Given the description of an element on the screen output the (x, y) to click on. 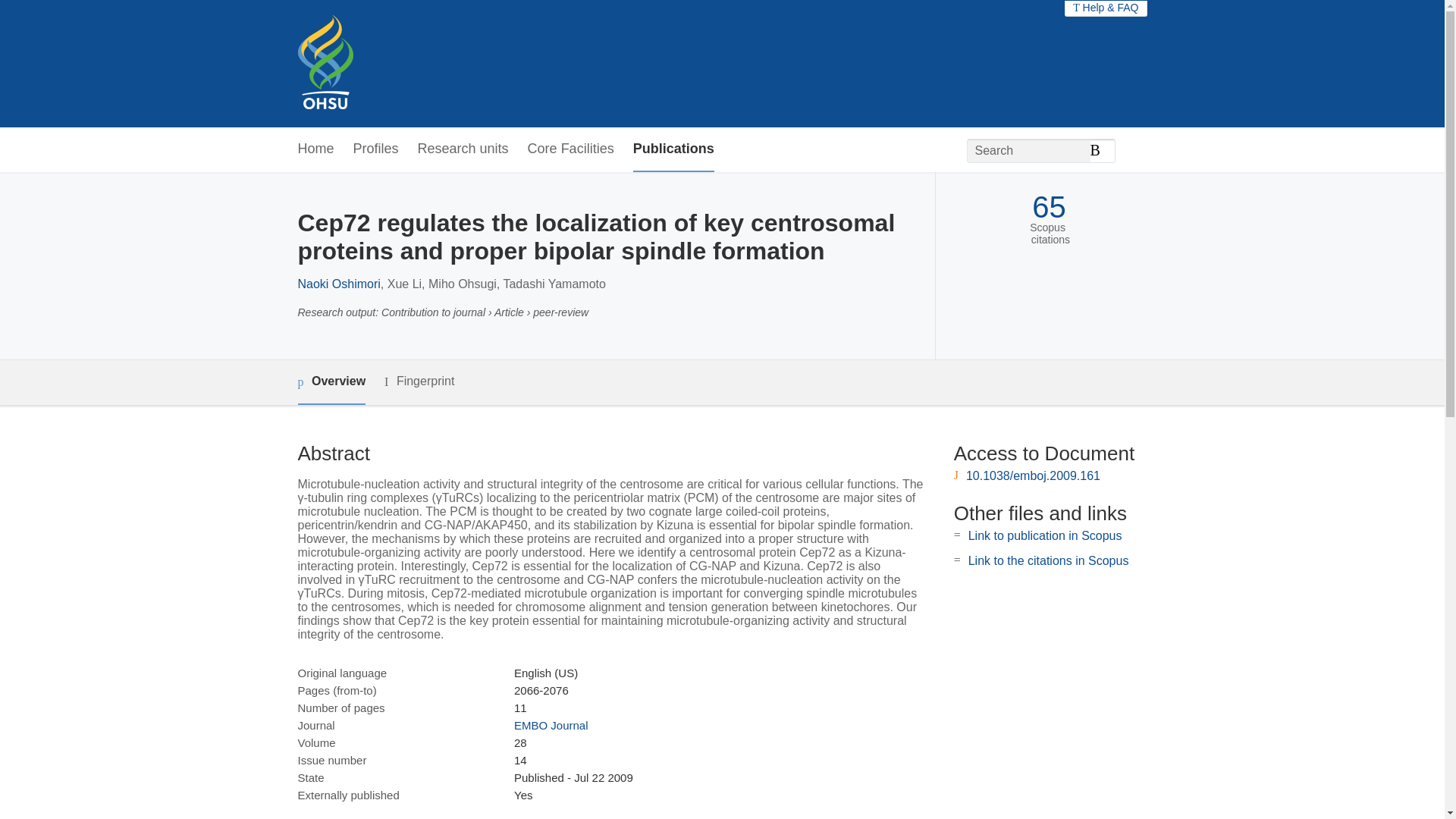
65 (1048, 207)
Naoki Oshimori (338, 283)
Overview (331, 382)
Publications (673, 149)
Research units (462, 149)
Fingerprint (419, 381)
EMBO Journal (550, 725)
Link to the citations in Scopus (1048, 560)
Link to publication in Scopus (1045, 535)
Core Facilities (570, 149)
Profiles (375, 149)
